Given the description of an element on the screen output the (x, y) to click on. 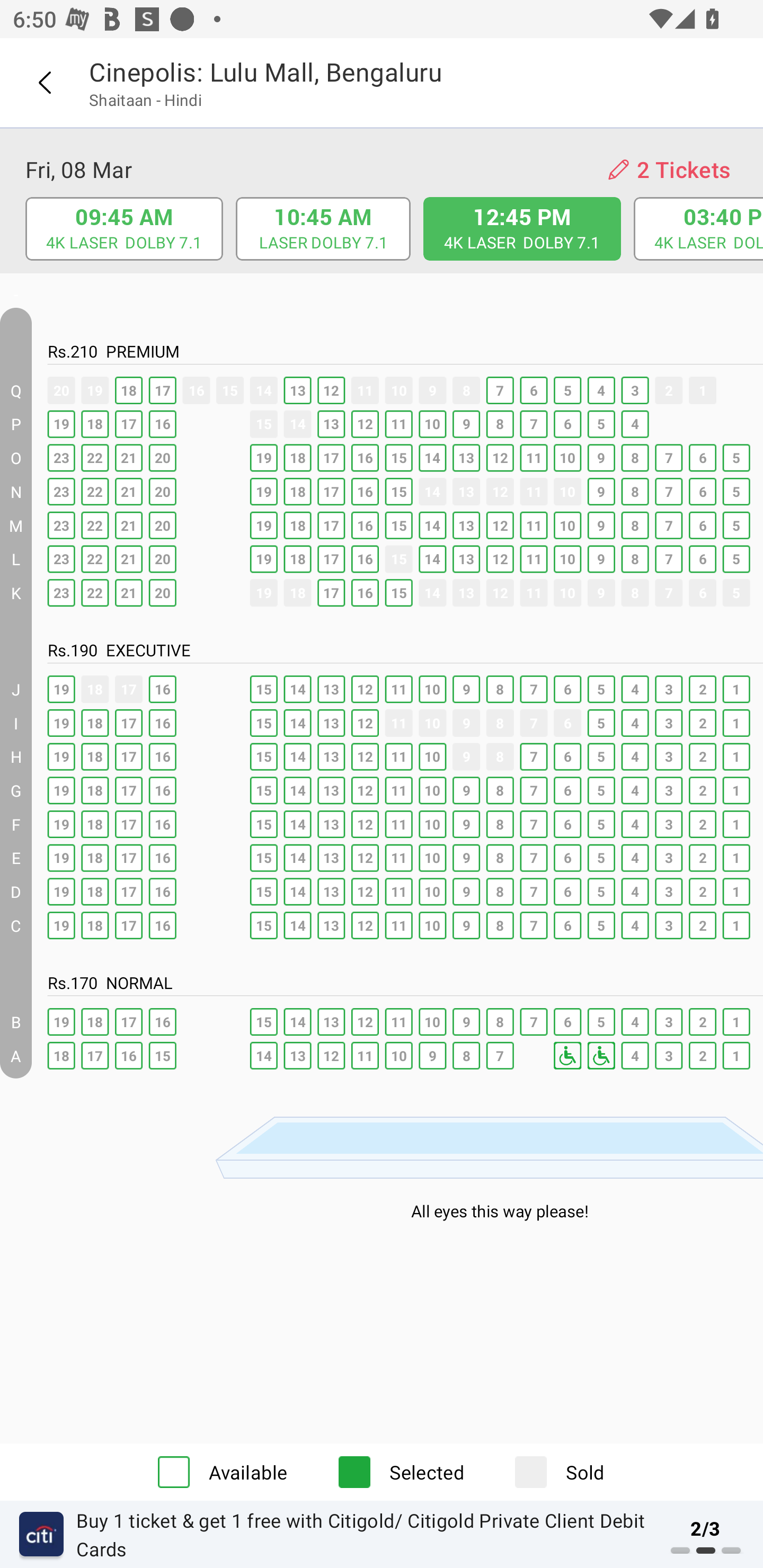
Back (44, 82)
 2 Tickets (668, 169)
09:45 AM 4K LASER  DOLBY 7.1 (123, 228)
10:45 AM LASER DOLBY 7.1 (322, 228)
12:45 PM 4K LASER  DOLBY 7.1 (521, 228)
03:40 PM 4K LASER  DOLBY 7.1 (699, 228)
